Given the description of an element on the screen output the (x, y) to click on. 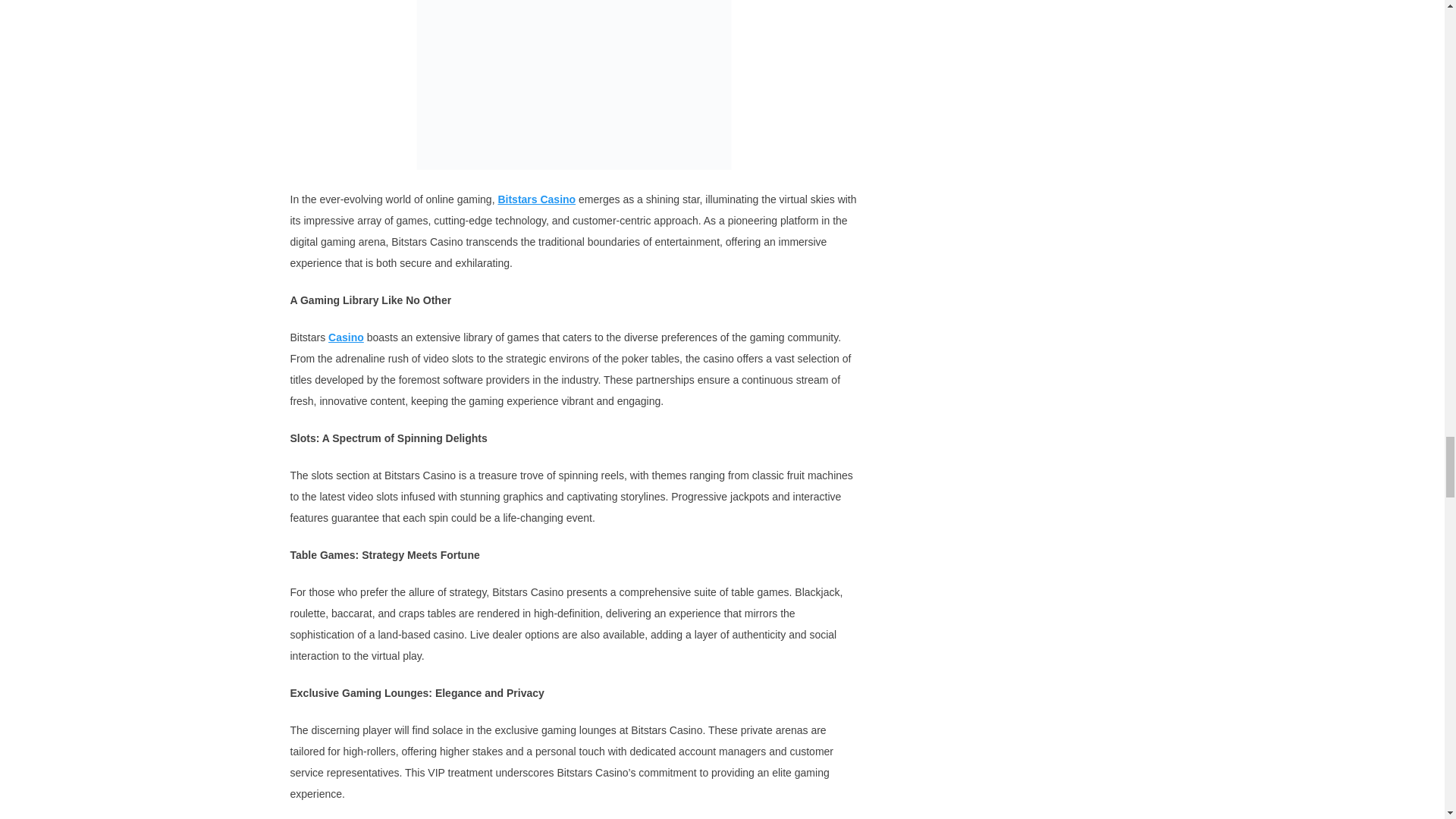
Bitstars Casino (536, 199)
Casino (346, 337)
